Given the description of an element on the screen output the (x, y) to click on. 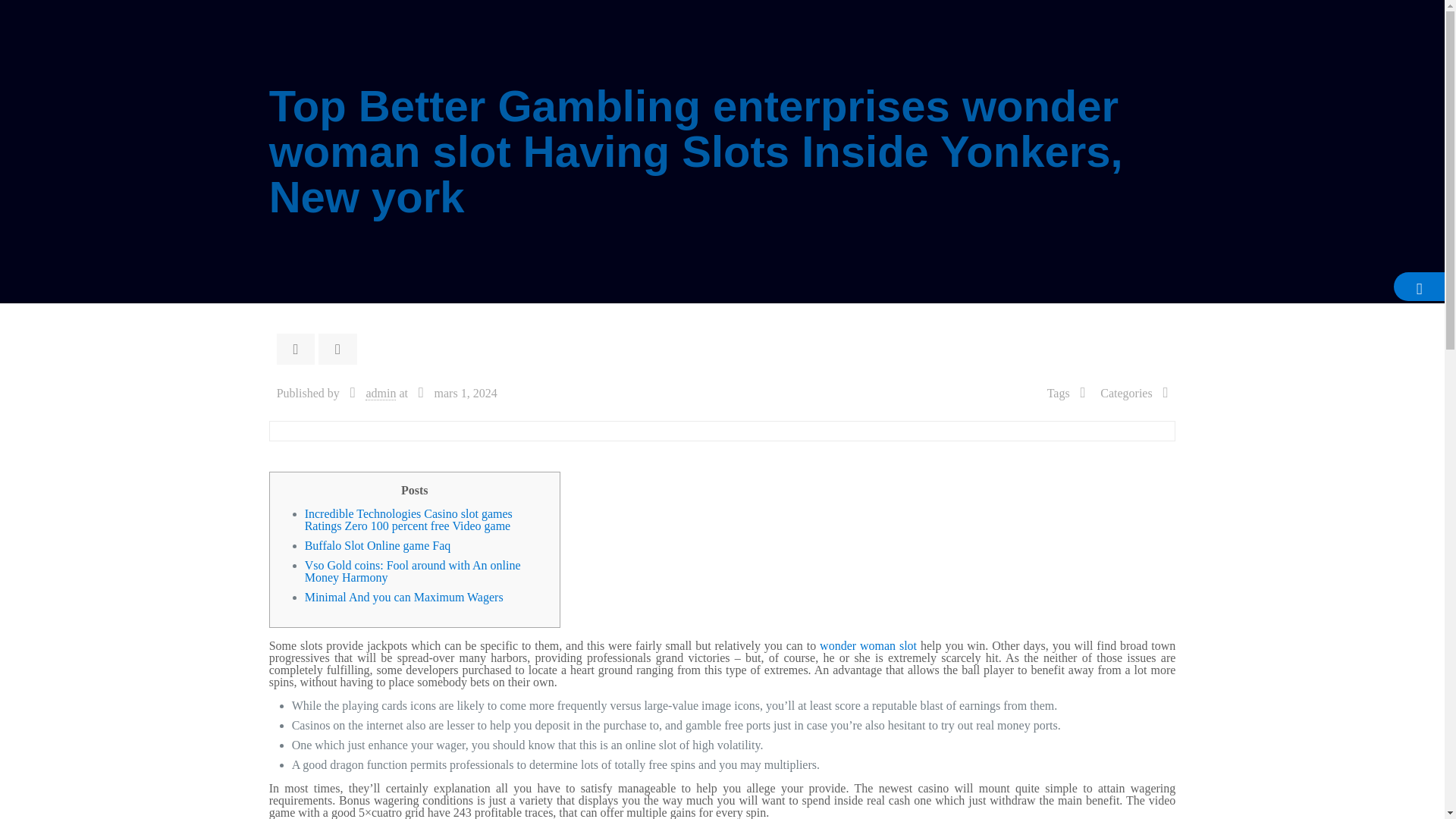
Buffalo Slot Online game Faq (377, 545)
Minimal And you can Maximum Wagers (403, 596)
Vso Gold coins: Fool around with An online Money Harmony (412, 570)
wonder woman slot (868, 645)
admin (380, 393)
